Given the description of an element on the screen output the (x, y) to click on. 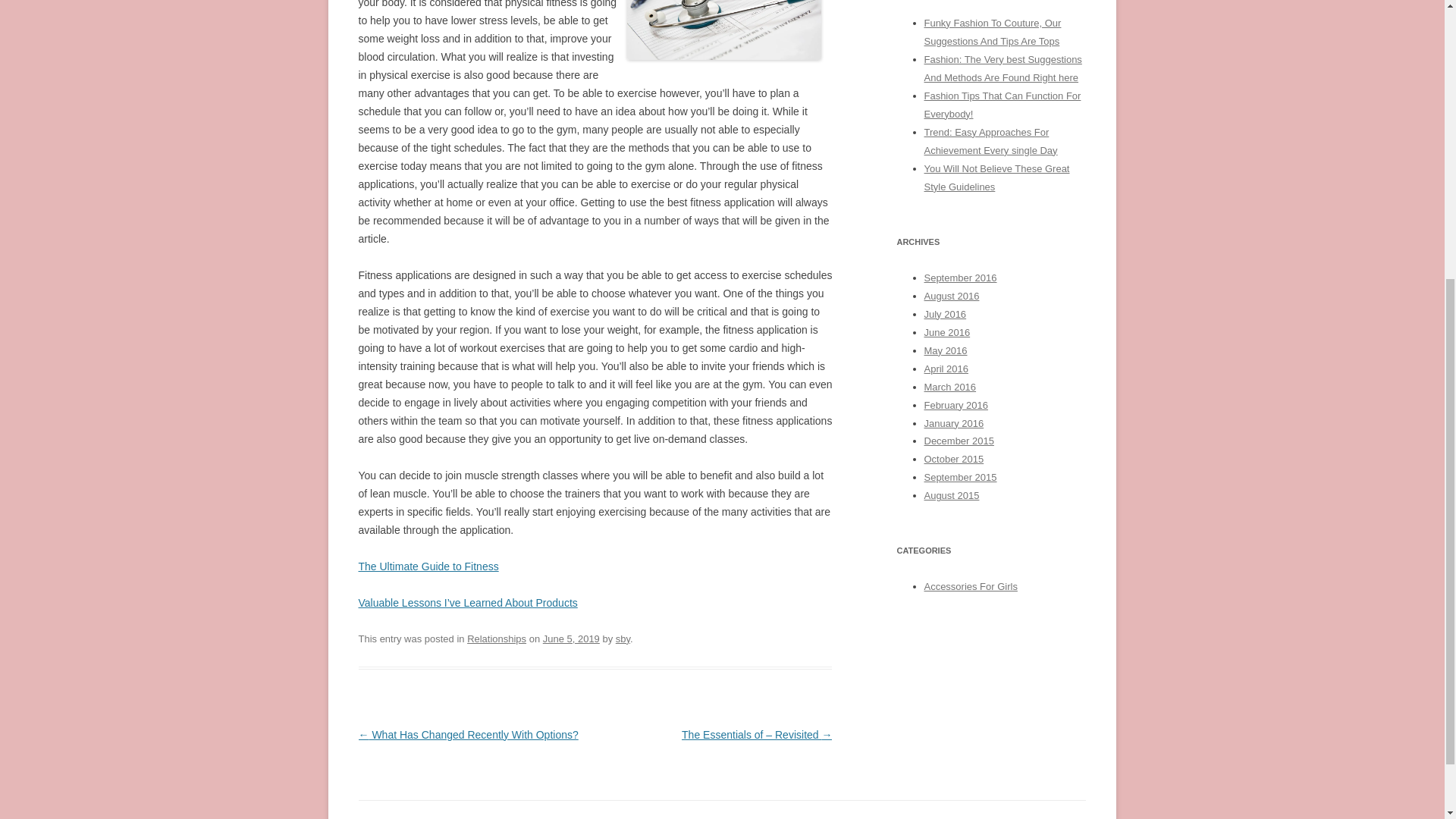
May 2016 (944, 350)
sby (622, 638)
December 2015 (957, 440)
August 2015 (950, 495)
June 2016 (946, 332)
You Will Not Believe These Great Style Guidelines (995, 177)
September 2015 (959, 477)
August 2016 (950, 296)
Fashion Tips That Can Function For Everybody! (1001, 104)
Trend: Easy Approaches For Achievement Every single Day (990, 141)
1:01 am (571, 638)
January 2016 (953, 422)
Funky Fashion To Couture, Our Suggestions And Tips Are Tops (992, 31)
Accessories For Girls (969, 586)
